Given the description of an element on the screen output the (x, y) to click on. 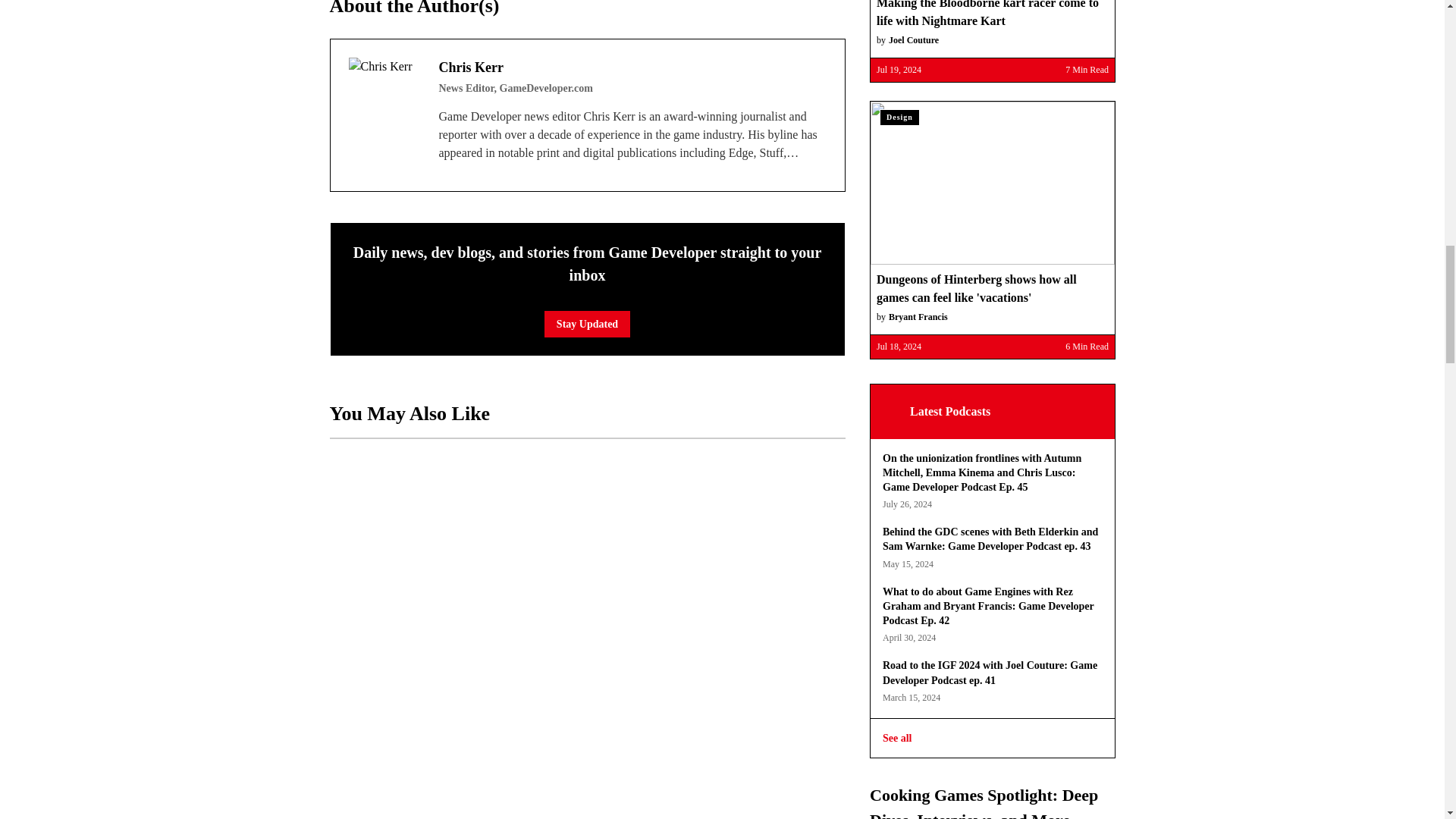
Chris Kerr (384, 93)
